Given the description of an element on the screen output the (x, y) to click on. 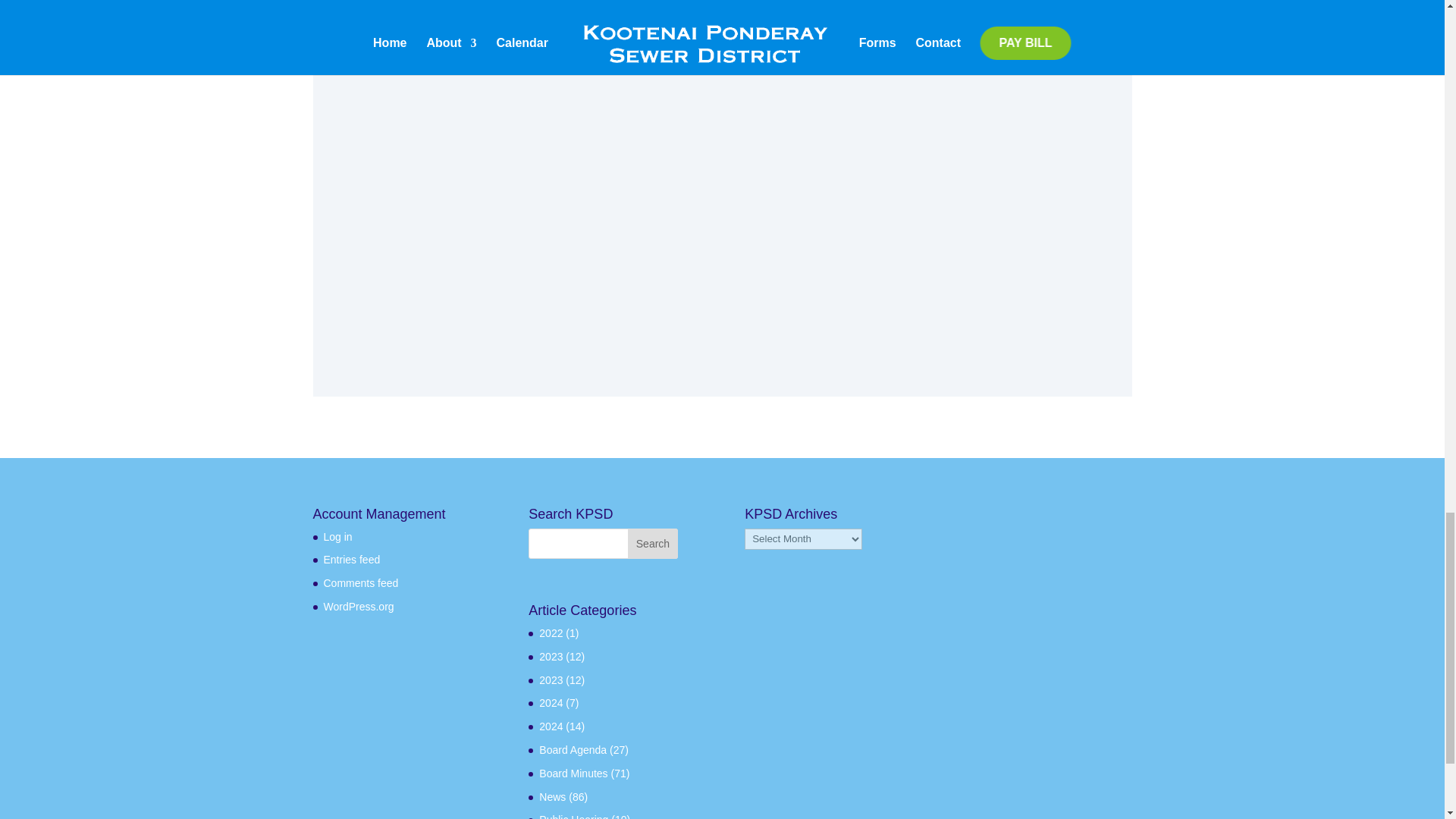
Search (652, 543)
